Given the description of an element on the screen output the (x, y) to click on. 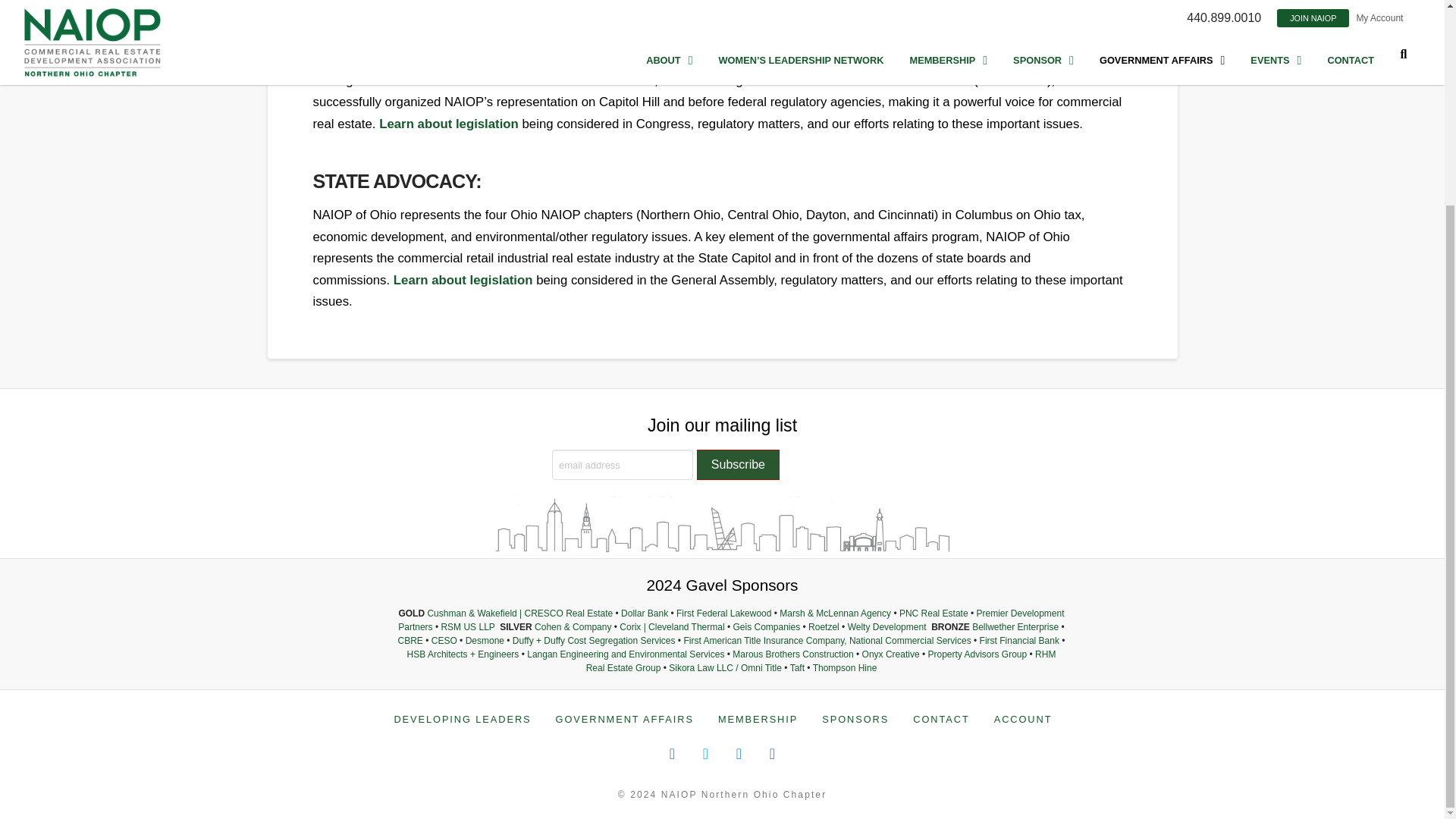
Subscribe (737, 464)
Subscribe (737, 464)
Geis Companies (765, 626)
Learn about legislation (462, 279)
Desmone (484, 640)
Dollar Bank (645, 613)
RSM US LLP (468, 626)
PNC Real Estate (933, 613)
CBRE (410, 640)
Welty Development (886, 626)
Roetzel (824, 626)
CESO (443, 640)
Bellwether Enterprise (1015, 626)
Learn about legislation (448, 124)
First Federal Lakewood (724, 613)
